Given the description of an element on the screen output the (x, y) to click on. 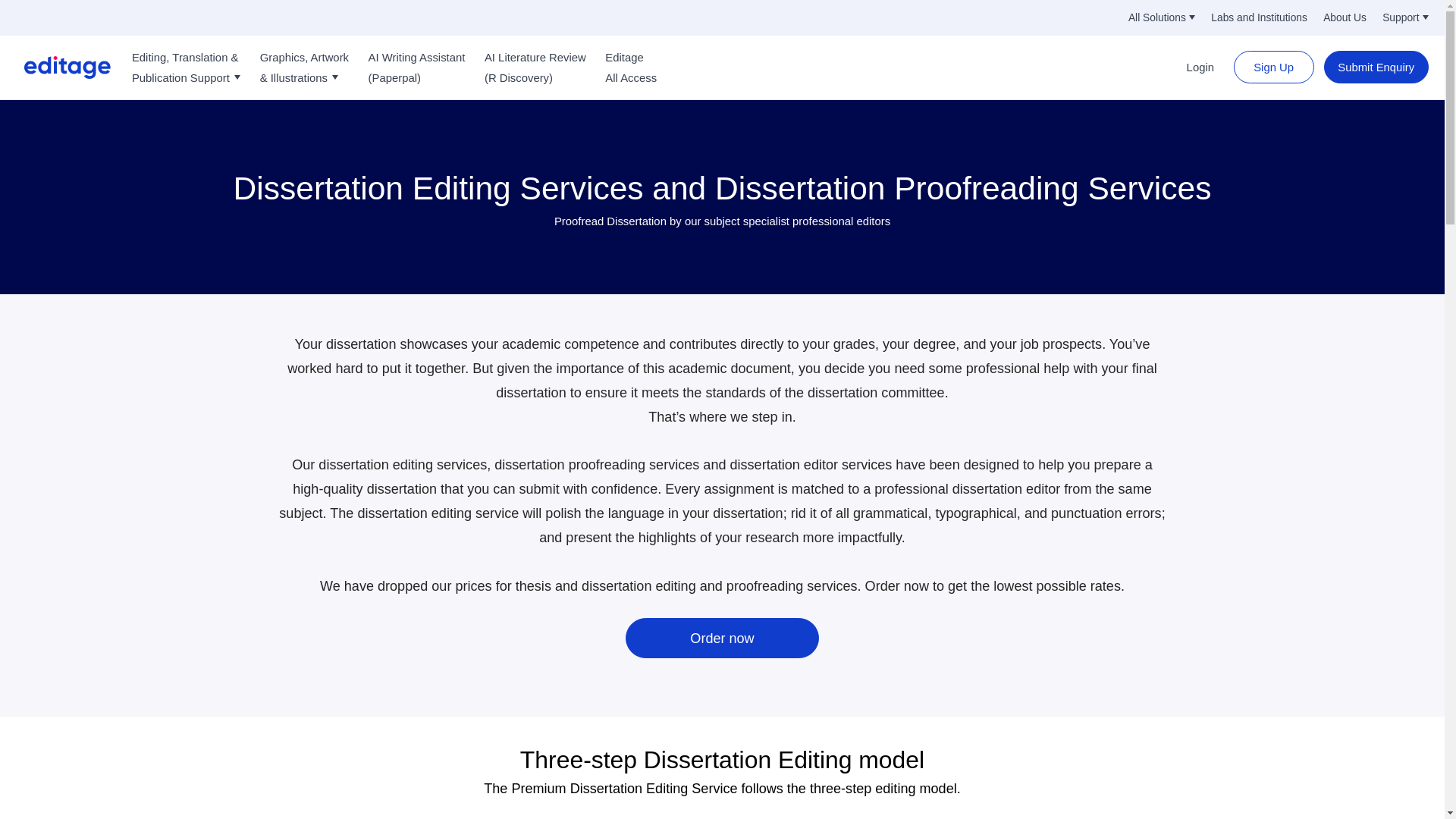
Support (1404, 17)
About Us (1345, 17)
Labs and Institutions (1259, 17)
All Solutions (1161, 17)
